Given the description of an element on the screen output the (x, y) to click on. 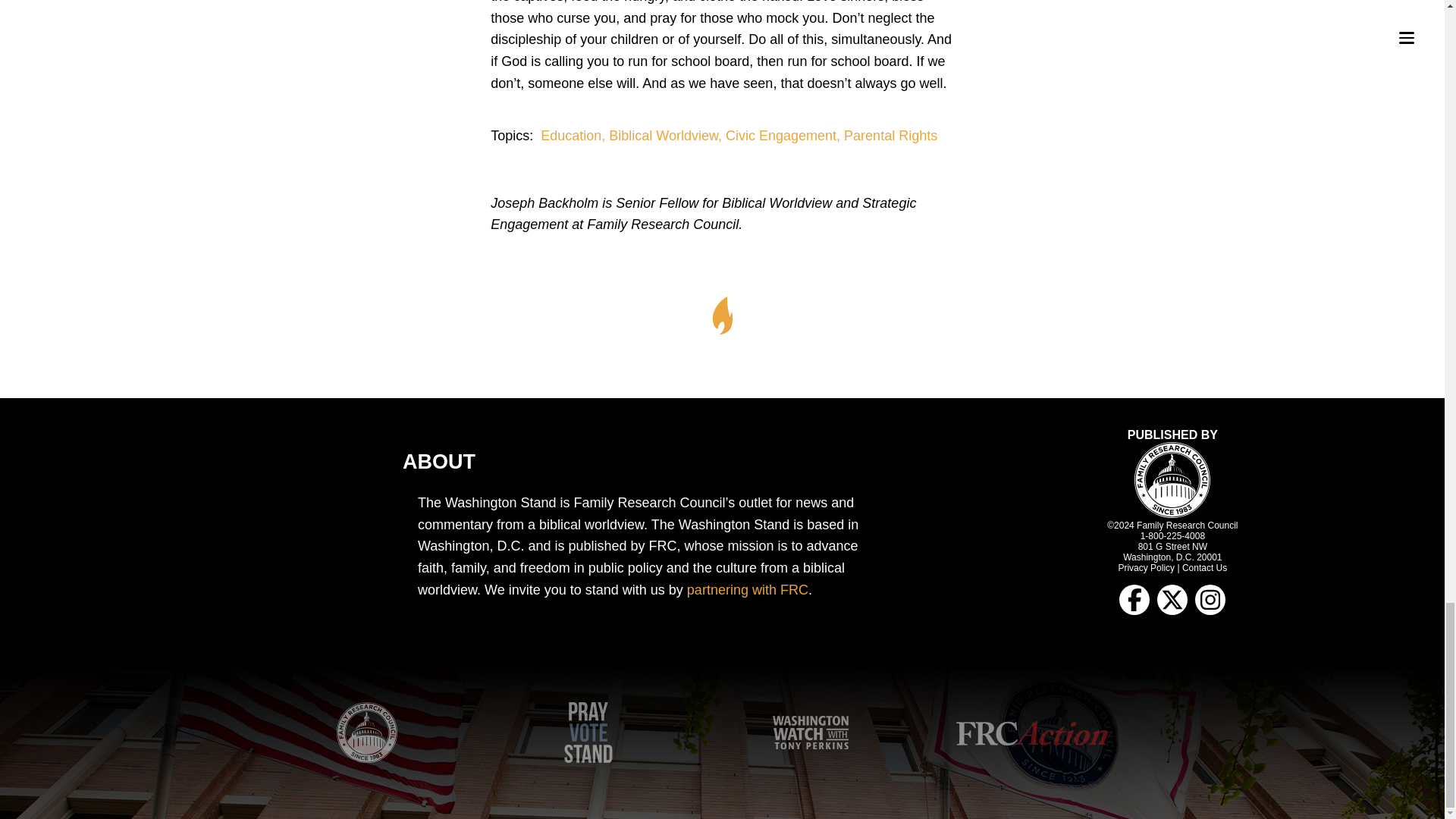
Civic Engagement, (784, 135)
Privacy Policy (1146, 567)
Education, (574, 135)
Parental Rights (890, 135)
Biblical Worldview, (666, 135)
Contact Us (1204, 567)
partnering with FRC (747, 589)
